Given the description of an element on the screen output the (x, y) to click on. 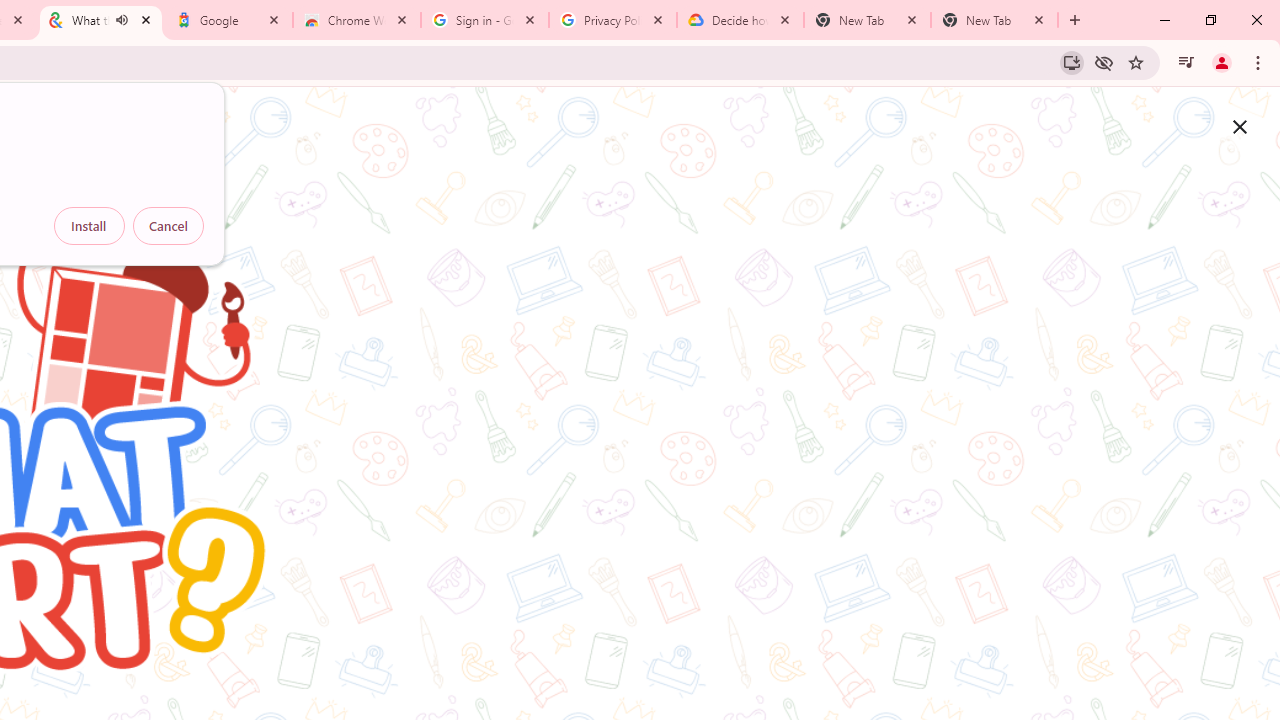
Browse Address Book (291, 684)
Verify Names (197, 683)
